Given the description of an element on the screen output the (x, y) to click on. 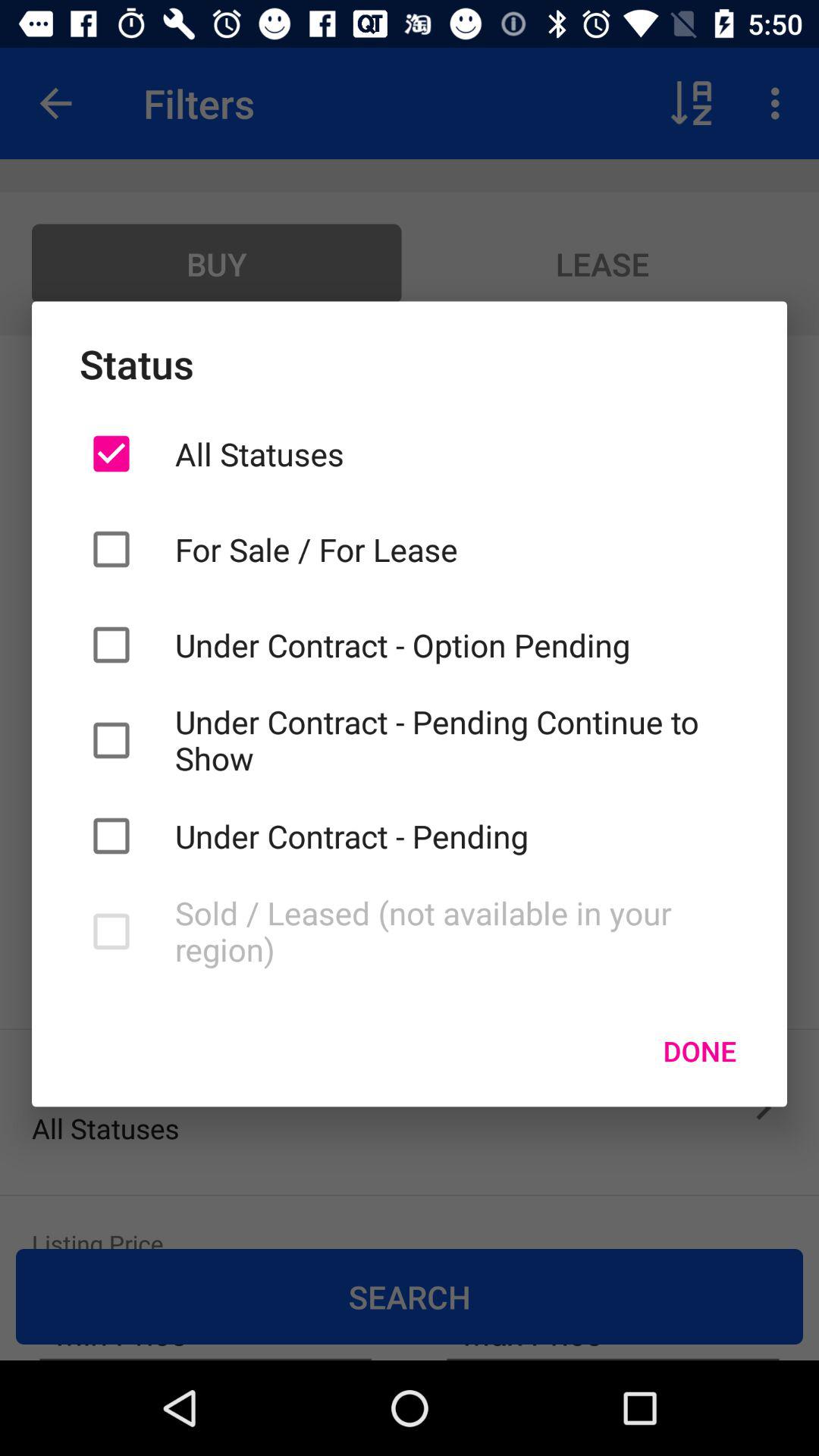
tap icon above the for sale for icon (457, 453)
